Given the description of an element on the screen output the (x, y) to click on. 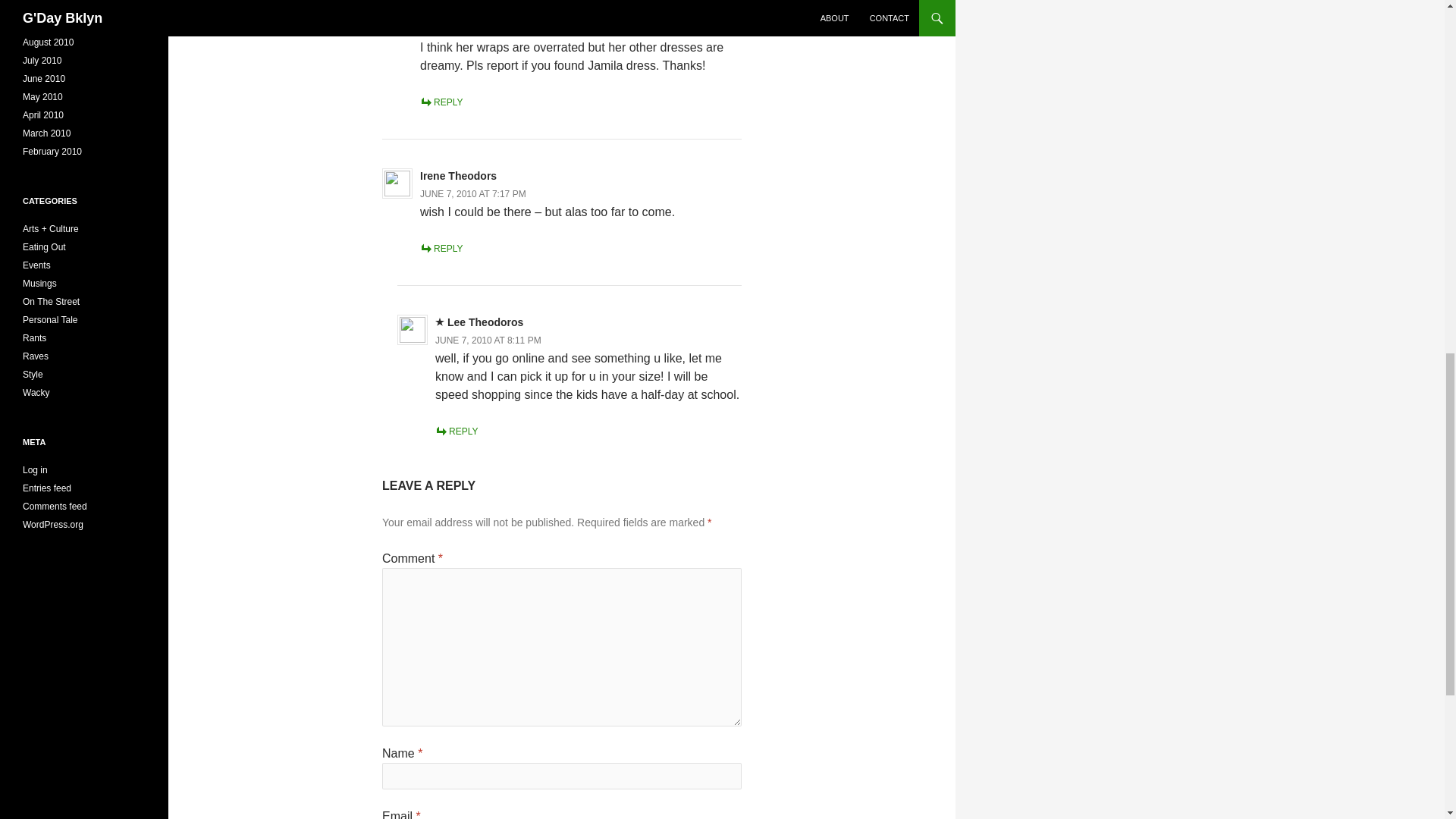
REPLY (441, 248)
JUNE 7, 2010 AT 8:11 PM (488, 339)
JUNE 7, 2010 AT 7:17 PM (472, 194)
REPLY (456, 430)
REPLY (441, 102)
JUNE 7, 2010 AT 3:47 PM (472, 29)
